Given the description of an element on the screen output the (x, y) to click on. 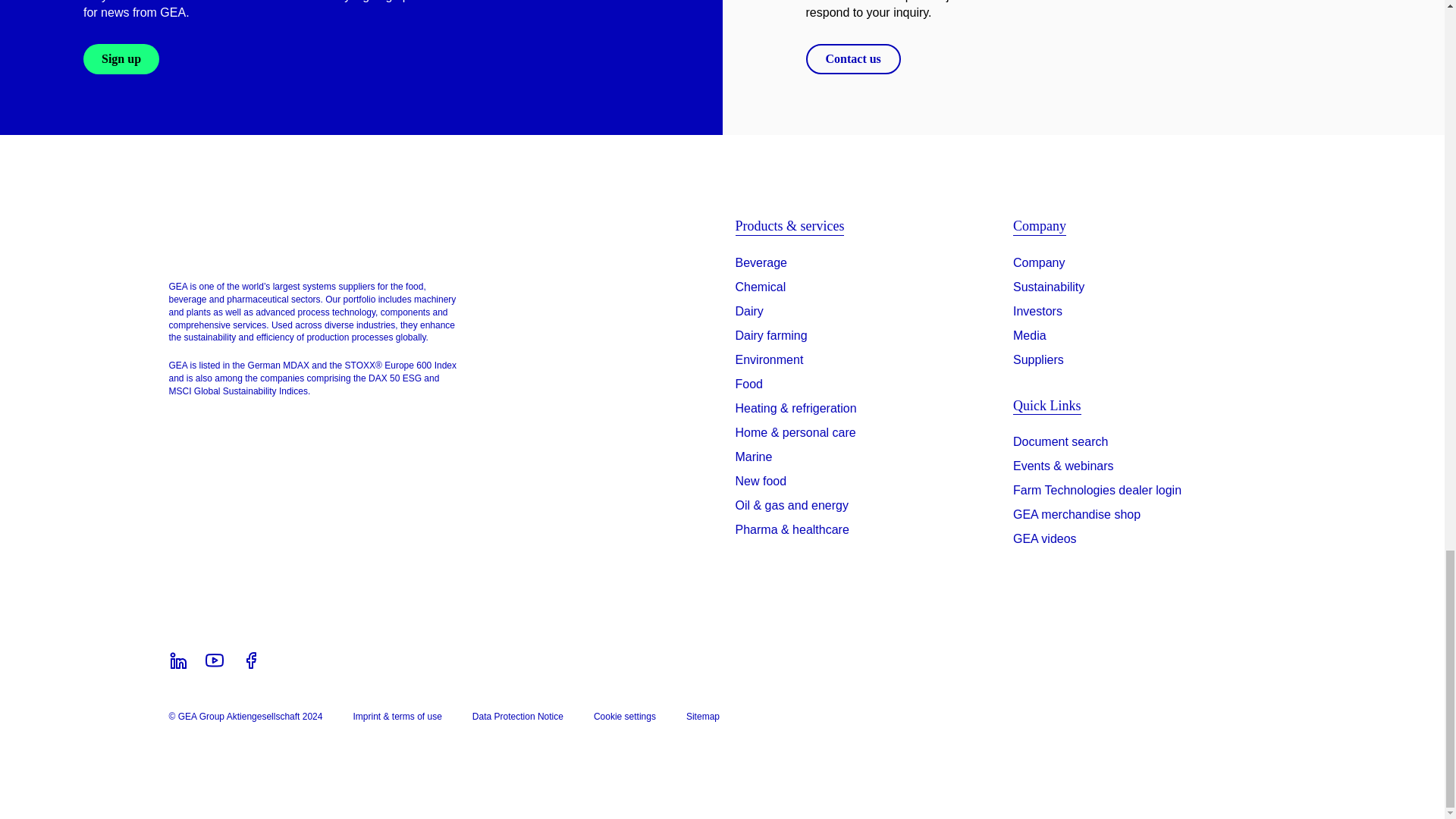
Suppliers (1038, 360)
videos (1045, 541)
Events (1063, 469)
Investors (1037, 311)
Company (1038, 262)
Search (1060, 445)
Media (1029, 335)
Sustainability (1048, 287)
